Given the description of an element on the screen output the (x, y) to click on. 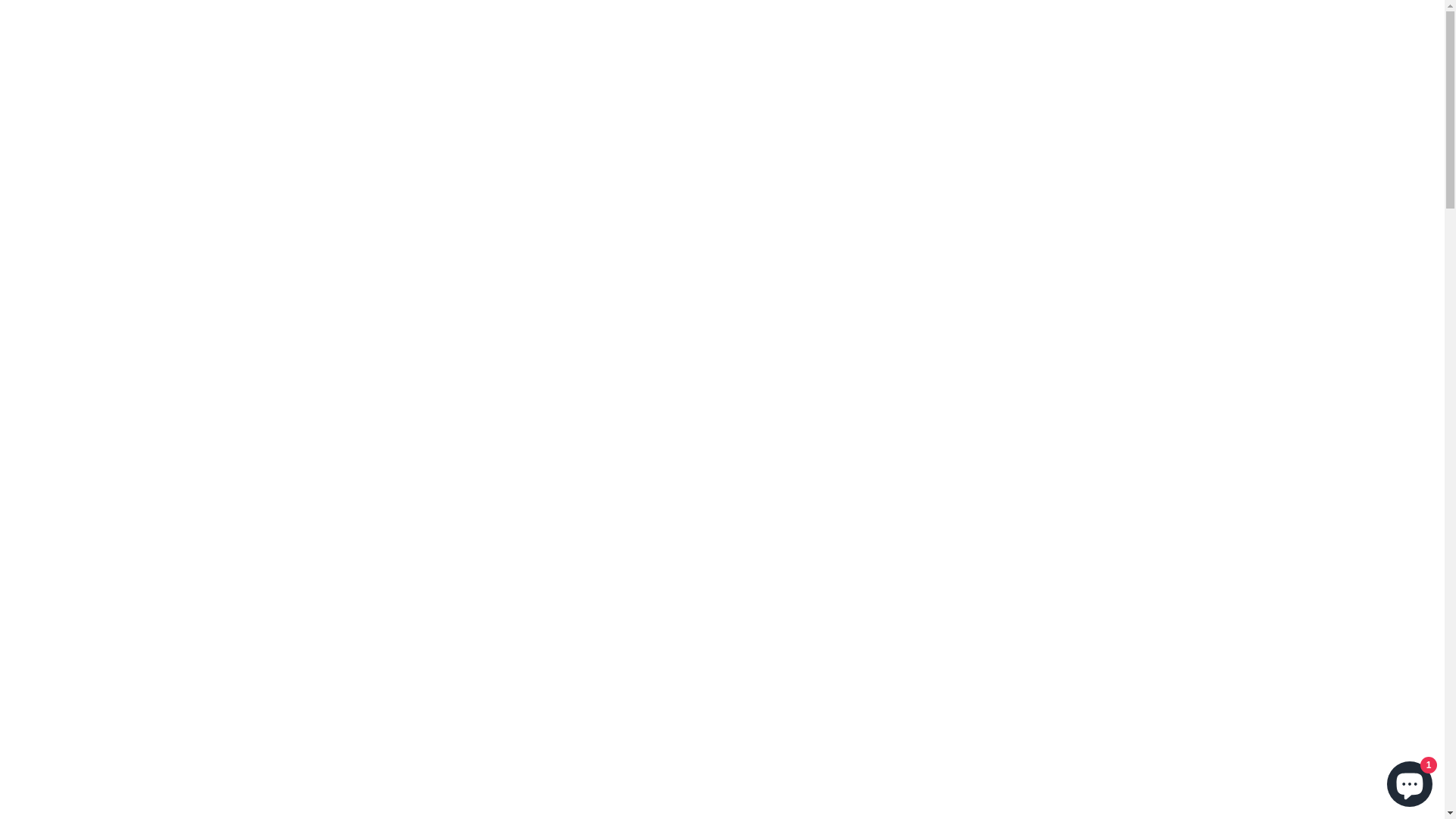
Shop Element type: text (676, 46)
Home Element type: text (627, 46)
Free Shipping On All Orders Over $60 Australia Wide Element type: text (721, 11)
Journal Element type: text (745, 46)
Shopify online store chat Element type: hover (1409, 780)
SHOP NOW Element type: text (722, 539)
0 Element type: text (1398, 46)
About Element type: text (800, 46)
